Given the description of an element on the screen output the (x, y) to click on. 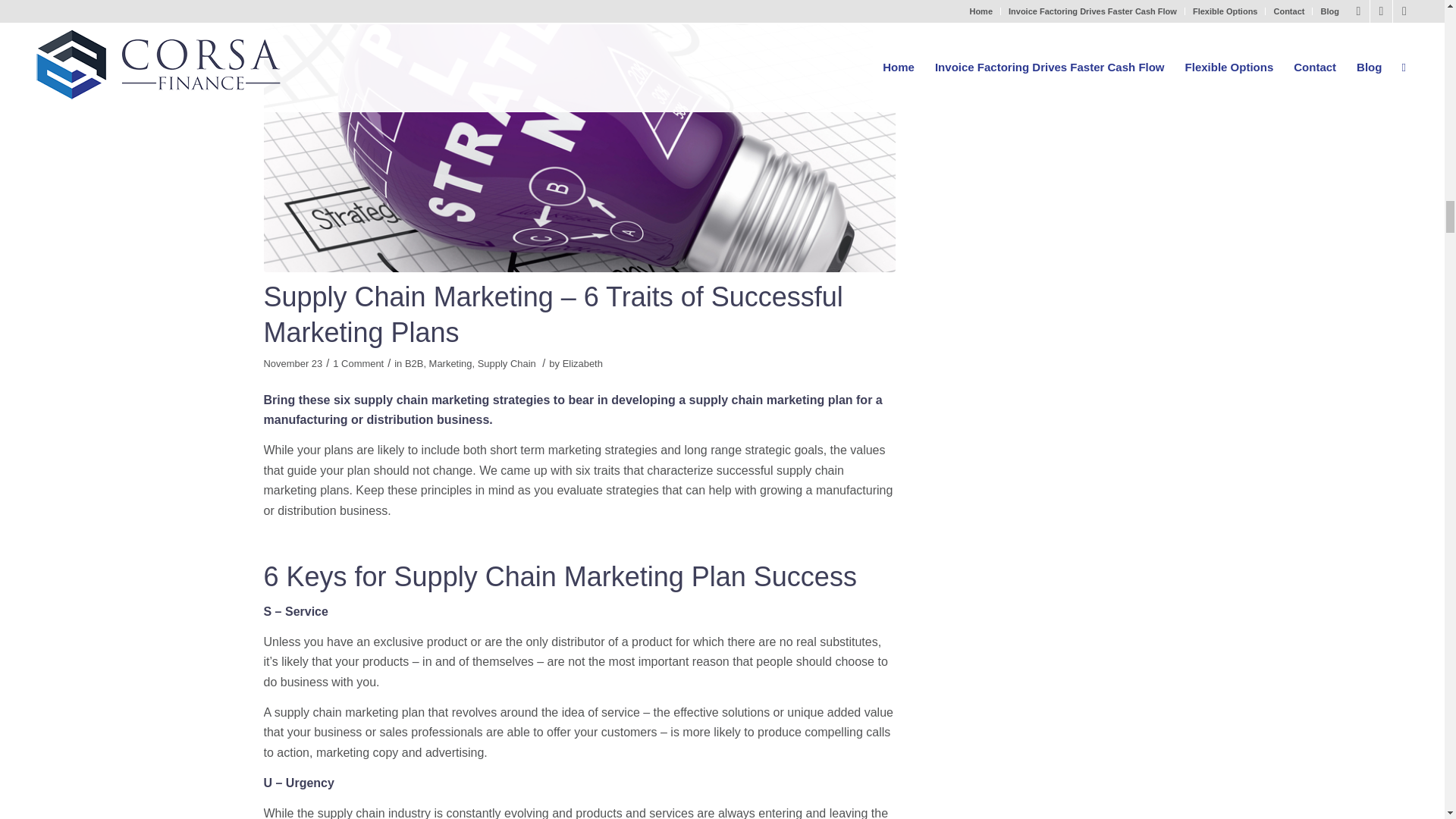
Posts by Elizabeth (582, 363)
